Given the description of an element on the screen output the (x, y) to click on. 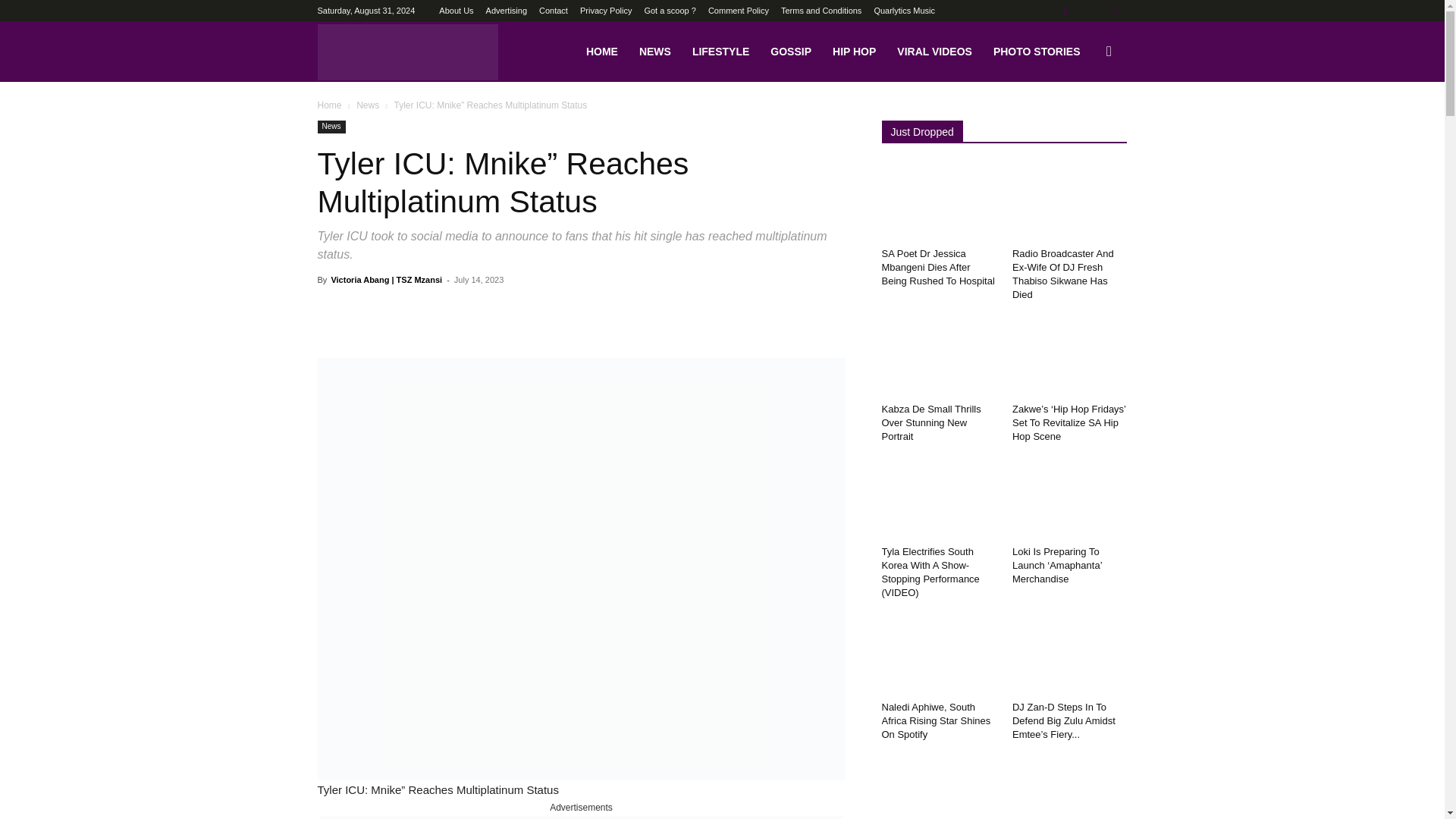
View all posts in News (367, 104)
Got a scoop ? (669, 10)
Quarlytics Music (903, 10)
Terms and Conditions (820, 10)
LIFESTYLE (720, 51)
Home (328, 104)
Facebook (1040, 10)
About Us (456, 10)
News (367, 104)
Contact (552, 10)
